Given the description of an element on the screen output the (x, y) to click on. 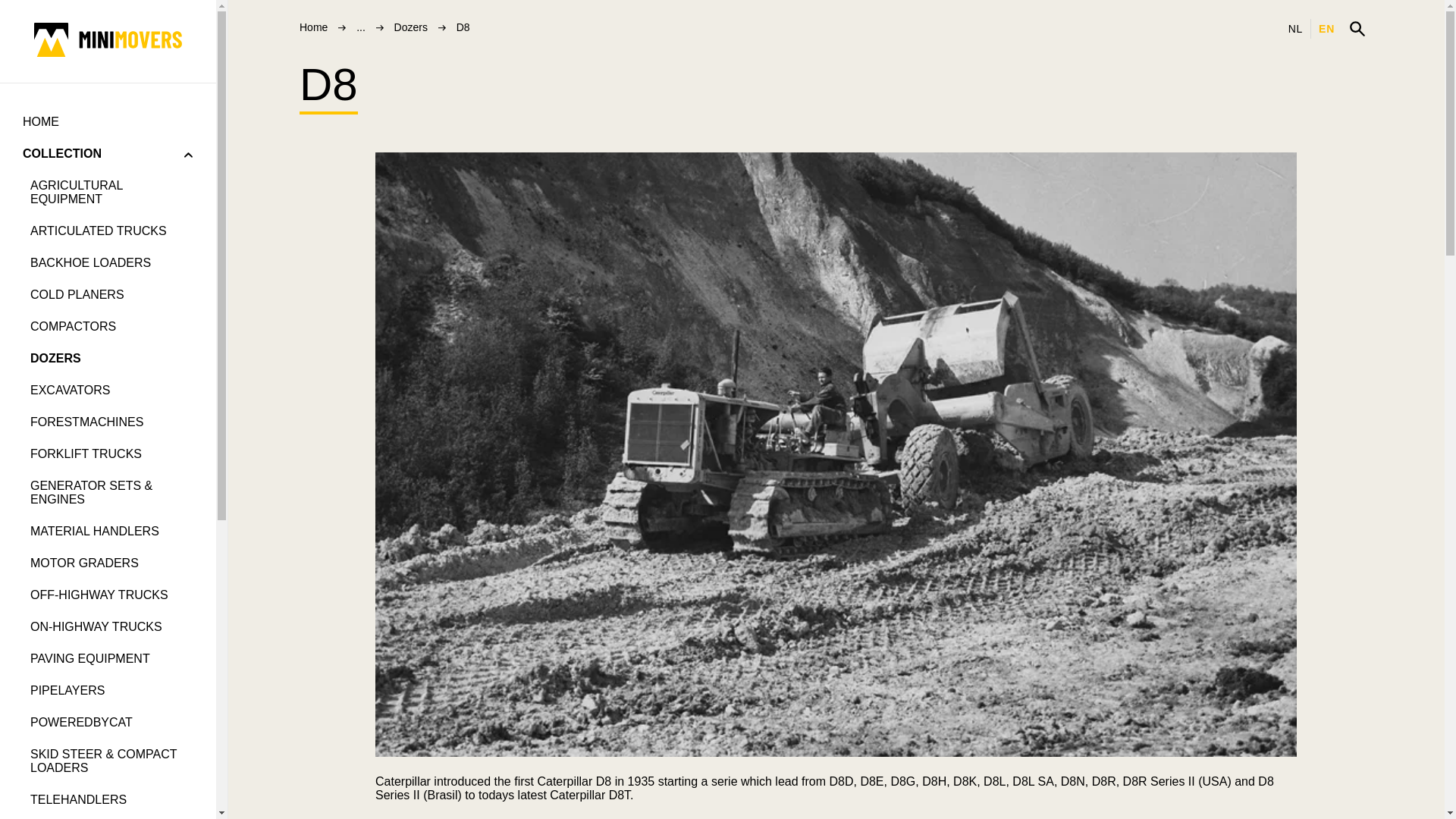
HOME (107, 122)
PAVING EQUIPMENT (111, 658)
MATERIAL HANDLERS (111, 531)
ARTICULATED TRUCKS (111, 231)
PIPELAYERS (111, 690)
Home (313, 27)
COMPACTORS (111, 327)
Dozers (411, 27)
EN (1326, 27)
MOTOR GRADERS (111, 563)
POWEREDBYCAT (111, 722)
FORESTMACHINES (111, 422)
TELEHANDLERS (111, 799)
COLLECTION (61, 153)
DOZERS (111, 358)
